Given the description of an element on the screen output the (x, y) to click on. 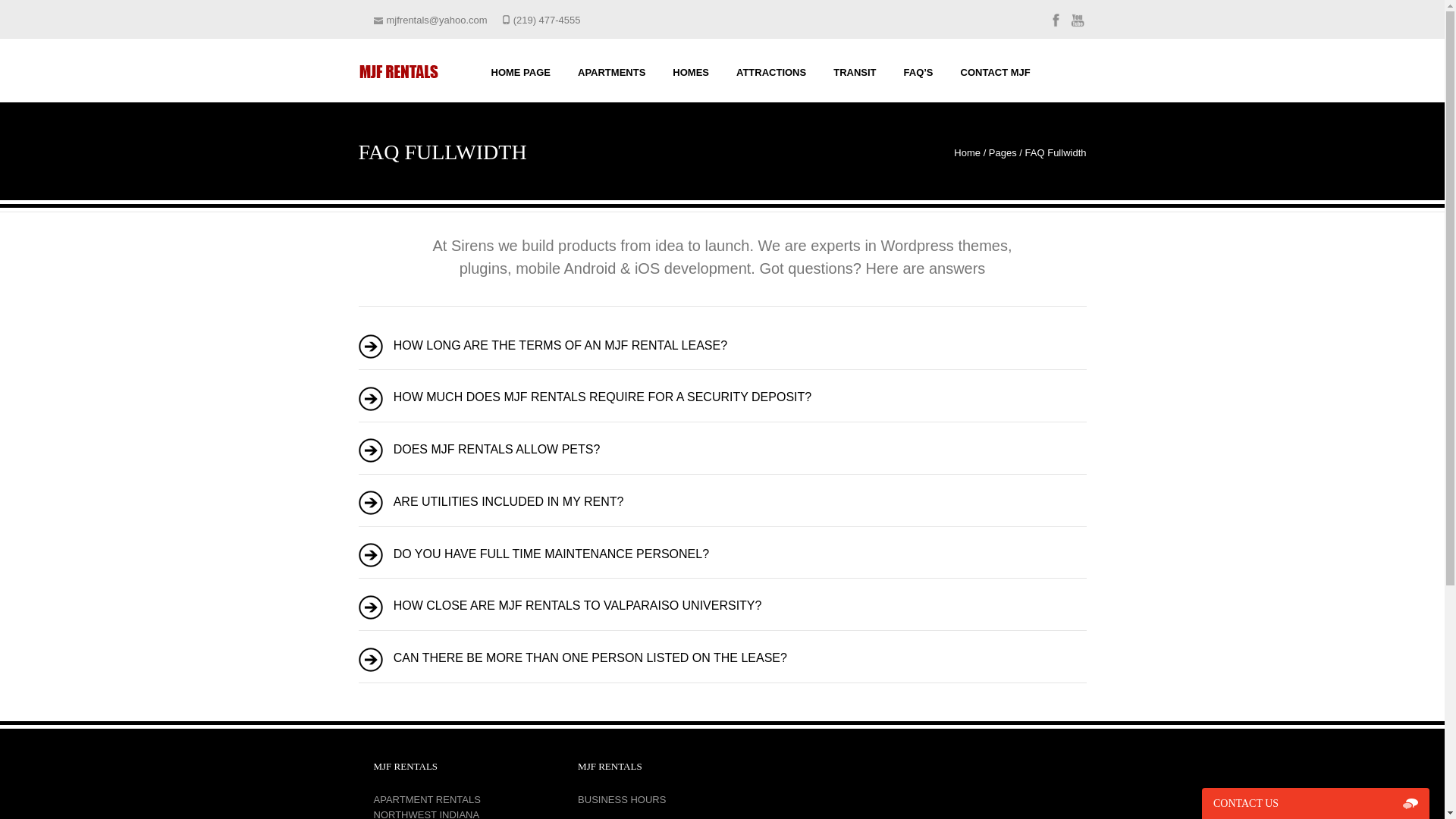
CONTACT MJF (995, 68)
ATTRACTIONS (770, 68)
Pages (1002, 152)
HOW MUCH DOES MJF RENTALS REQUIRE FOR A SECURITY DEPOSIT? (735, 397)
Home (966, 152)
Youtube (1076, 25)
Facebook (1055, 25)
HOME PAGE (520, 68)
APARTMENTS (611, 68)
HOW LONG ARE THE TERMS OF AN MJF RENTAL LEASE? (735, 345)
